Given the description of an element on the screen output the (x, y) to click on. 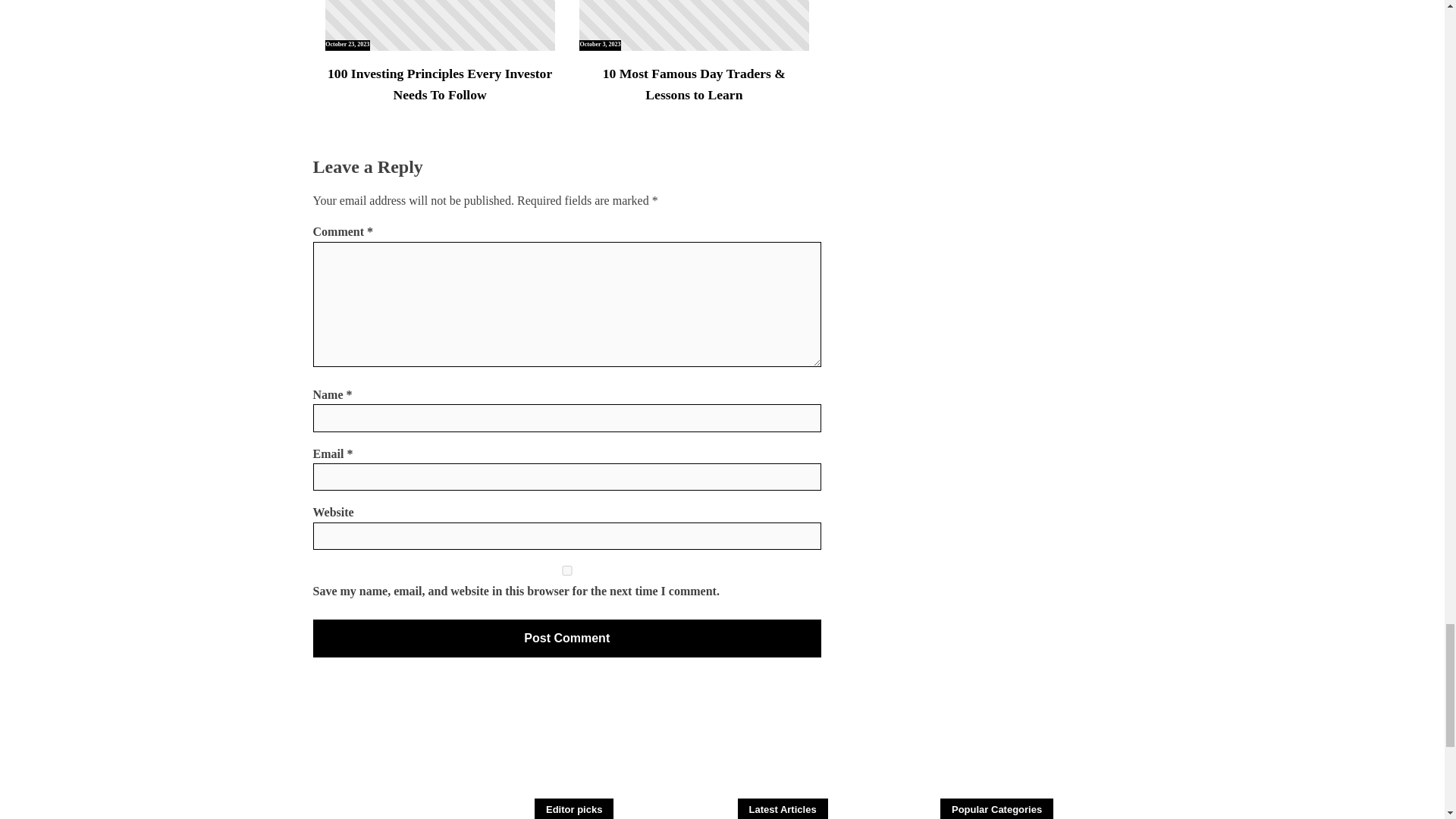
October 23, 2023 (439, 25)
Post Comment (567, 638)
yes (567, 570)
